Given the description of an element on the screen output the (x, y) to click on. 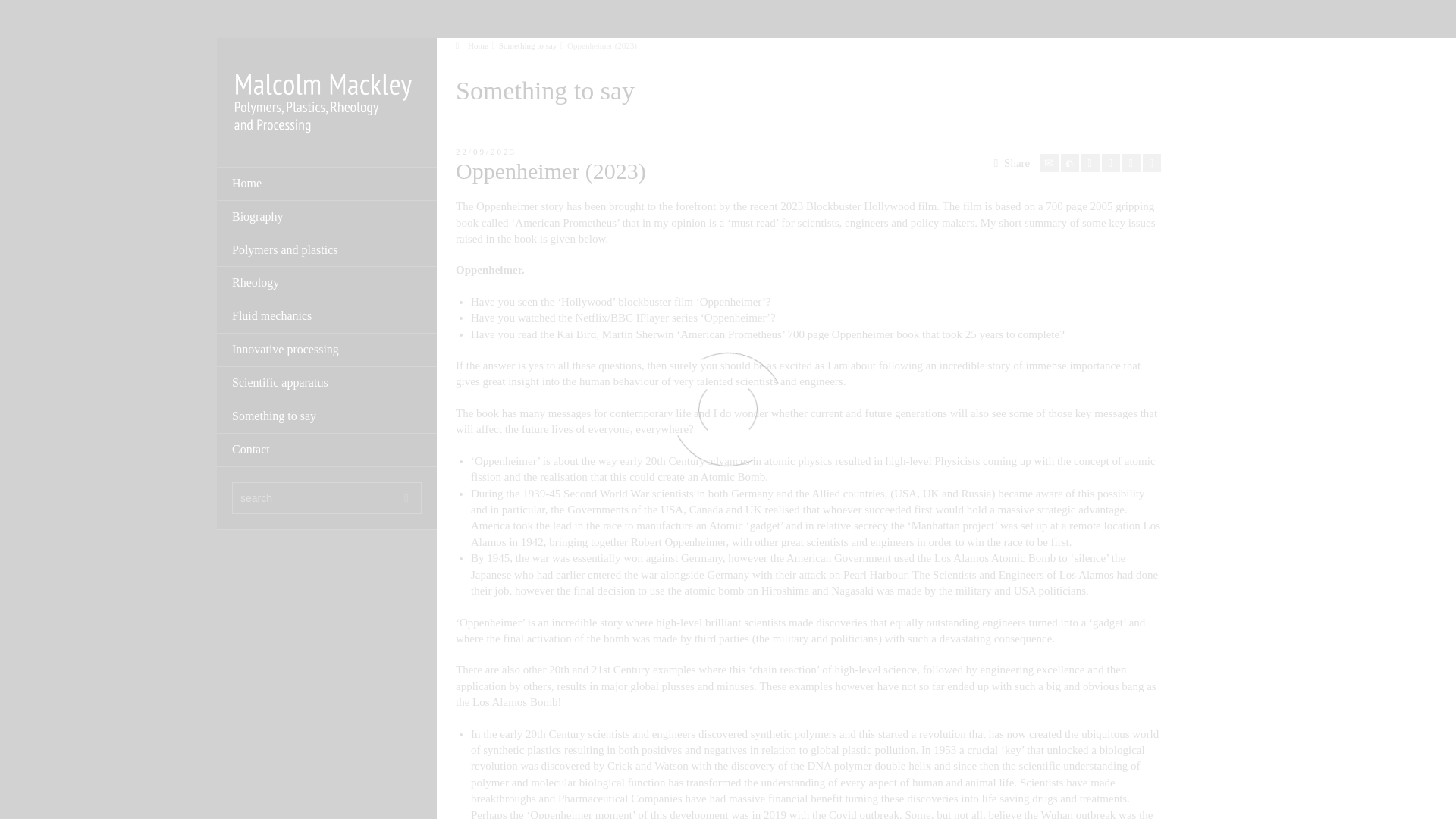
Innovative processing (326, 349)
Home (471, 44)
Linkedin (1131, 162)
Something to say (527, 44)
Pinterest (1110, 162)
Email (1049, 162)
Facebook (1090, 162)
X (1069, 162)
Scientific apparatus (326, 383)
Vkontakte (1151, 162)
